Given the description of an element on the screen output the (x, y) to click on. 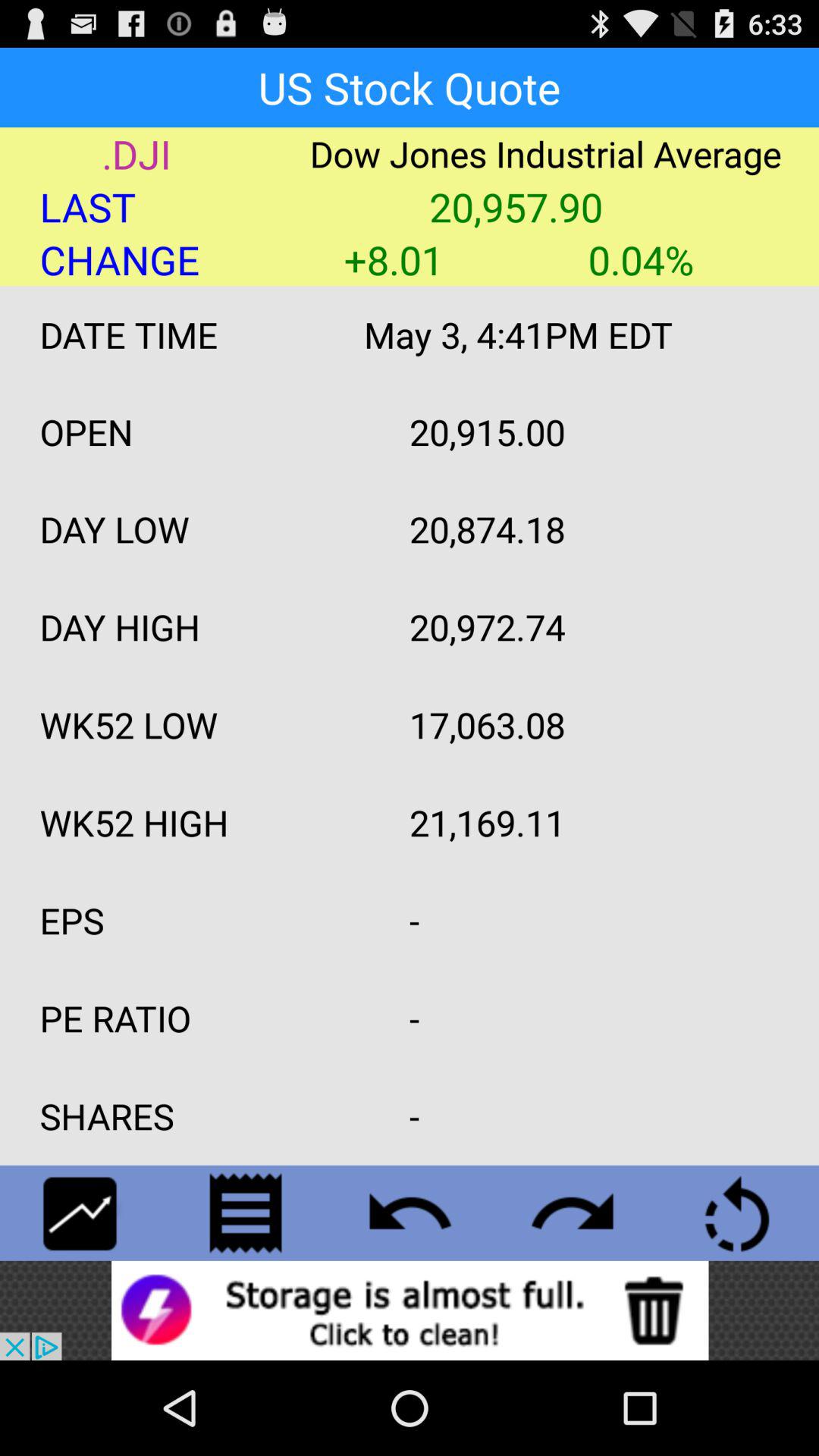
go back (409, 1212)
